Given the description of an element on the screen output the (x, y) to click on. 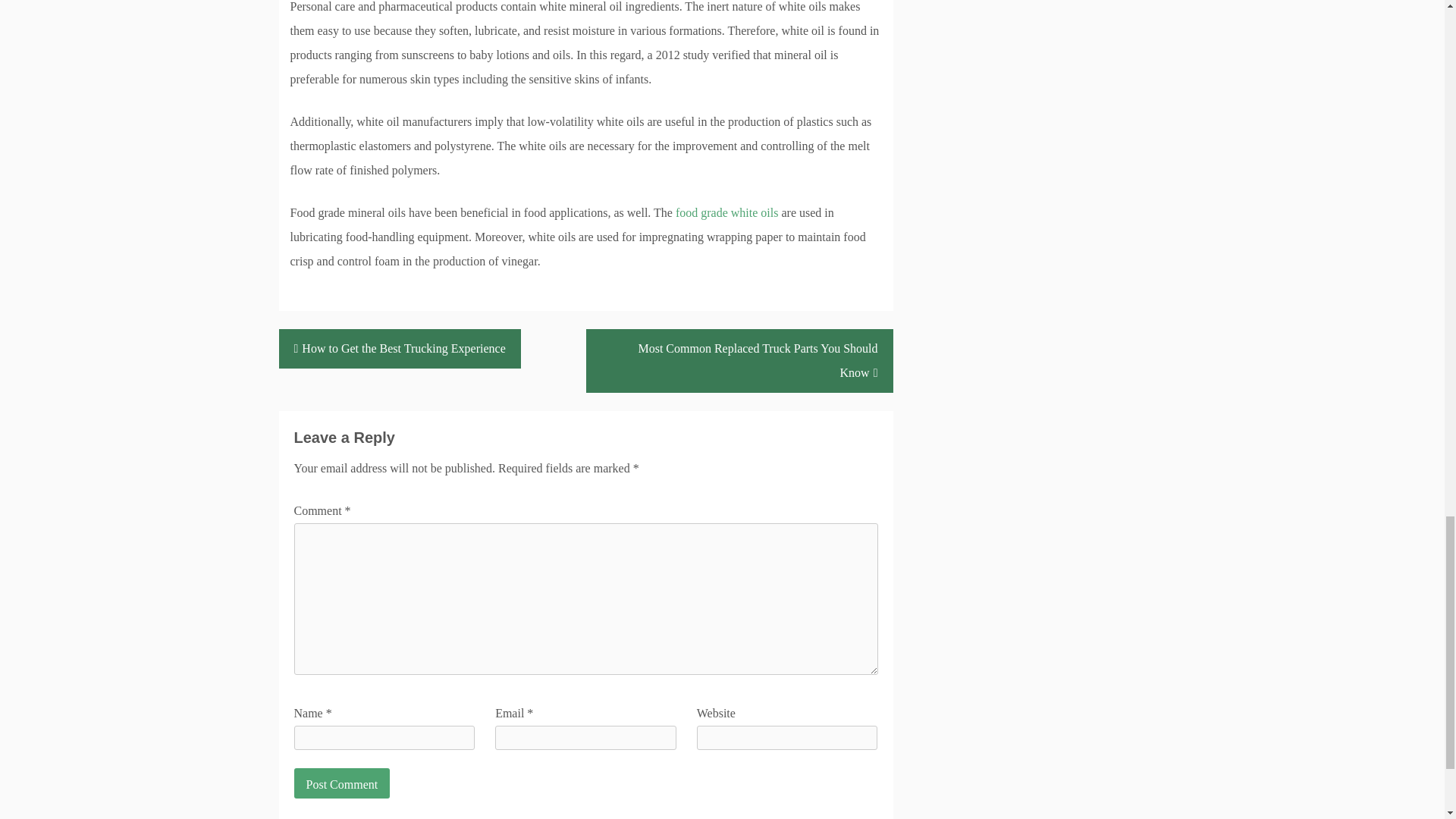
Post Comment (342, 783)
Post Comment (342, 783)
White oil manufacturers, White mineral oil supplier (726, 212)
How to Get the Best Trucking Experience (400, 348)
food grade white oils (726, 212)
Most Common Replaced Truck Parts You Should Know (738, 361)
